Given the description of an element on the screen output the (x, y) to click on. 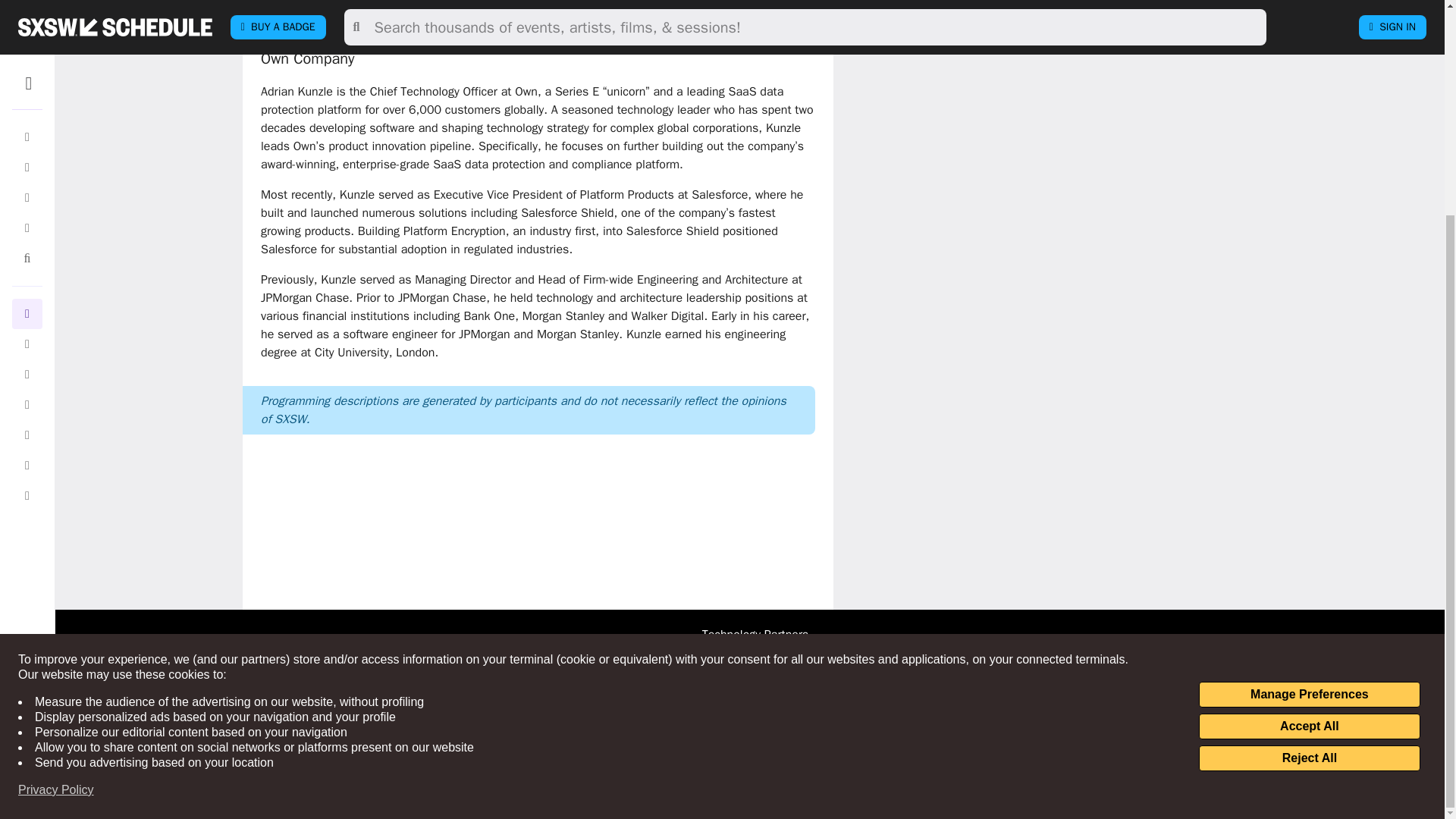
Reject All (1309, 475)
Privacy Policy (55, 507)
Manage Preferences (1309, 412)
Accept All (1309, 444)
